Given the description of an element on the screen output the (x, y) to click on. 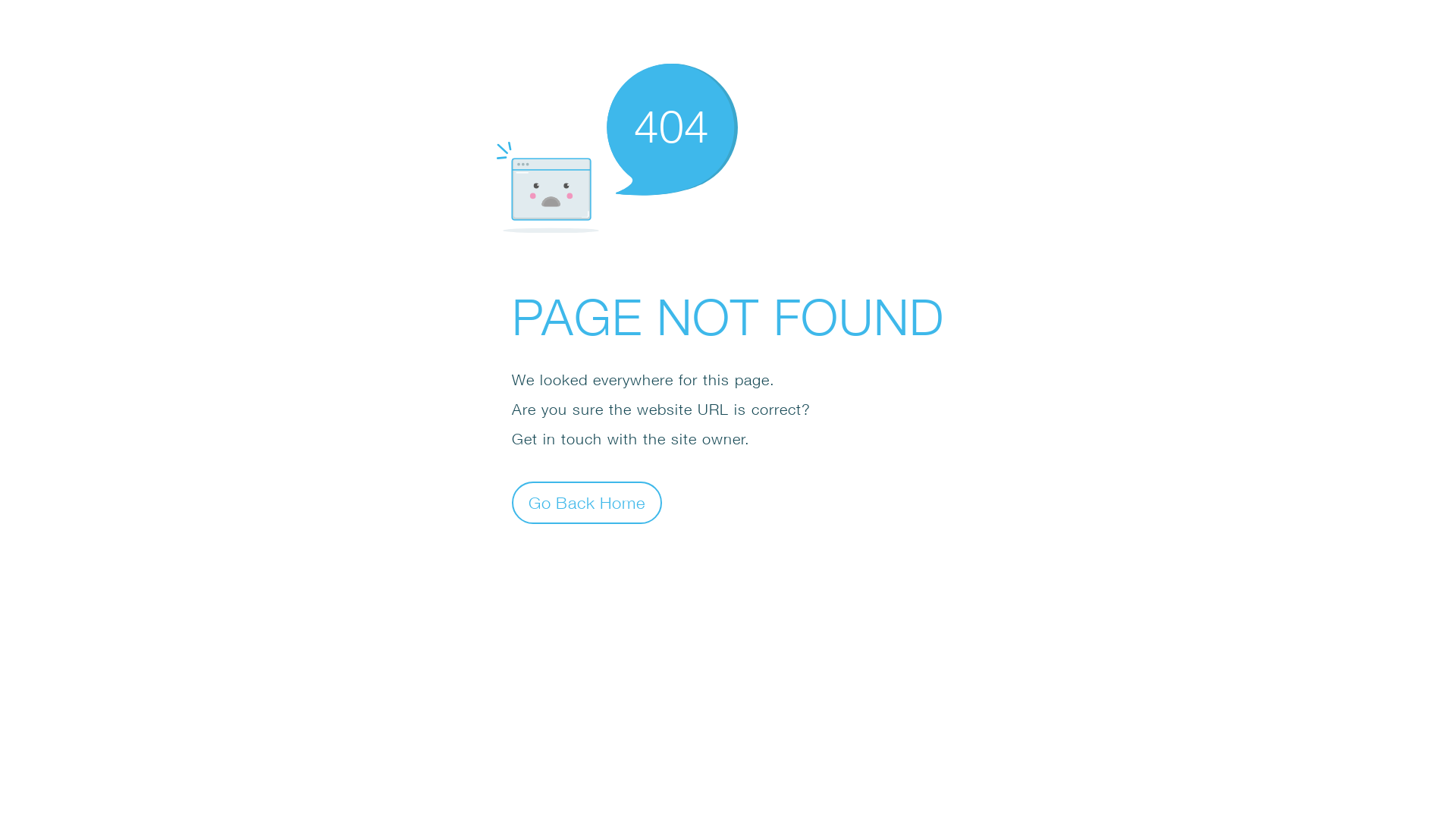
Go Back Home Element type: text (586, 502)
